Given the description of an element on the screen output the (x, y) to click on. 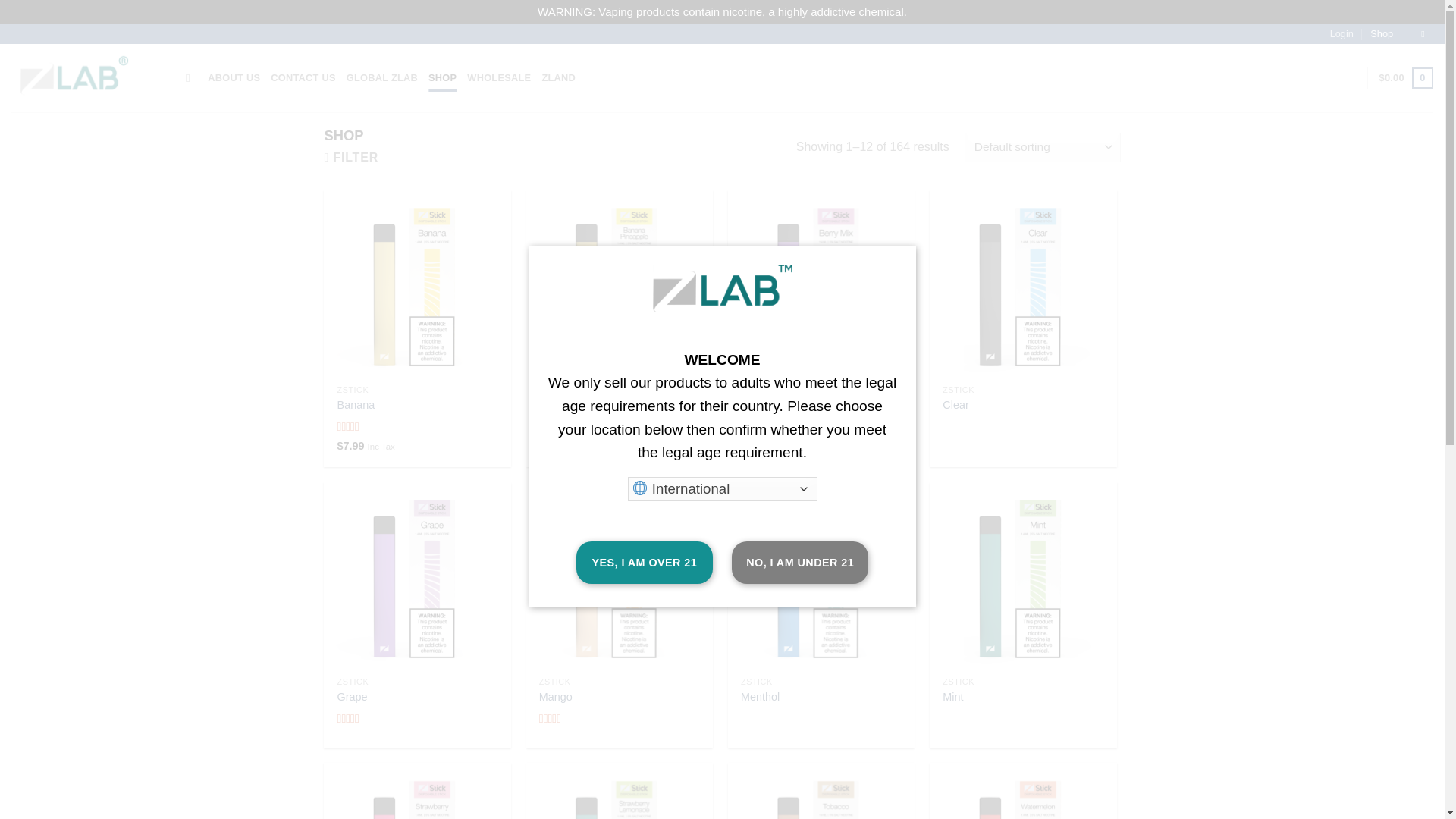
YES, I AM OVER 21 (644, 562)
Banana Pineapple (583, 405)
NO, I AM UNDER 21 (799, 562)
ZLAND (558, 77)
Banana (356, 405)
Shop (1381, 34)
FILTER (351, 156)
ABOUT US (234, 77)
Berry Mix (764, 405)
Grape (352, 697)
Basket (1405, 77)
Mango (555, 697)
Mint (952, 697)
SHOP (442, 77)
Login (1342, 34)
